Given the description of an element on the screen output the (x, y) to click on. 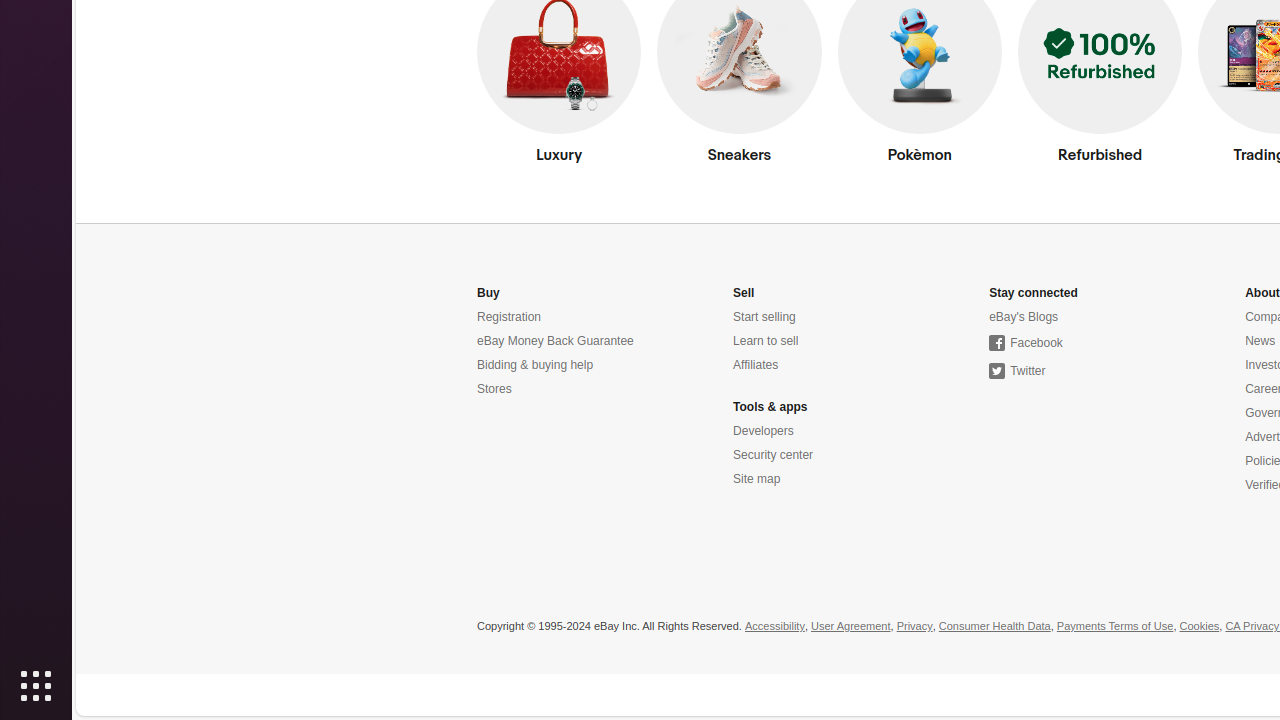
Show Applications Element type: toggle-button (36, 686)
Cookies Element type: link (1199, 627)
